Given the description of an element on the screen output the (x, y) to click on. 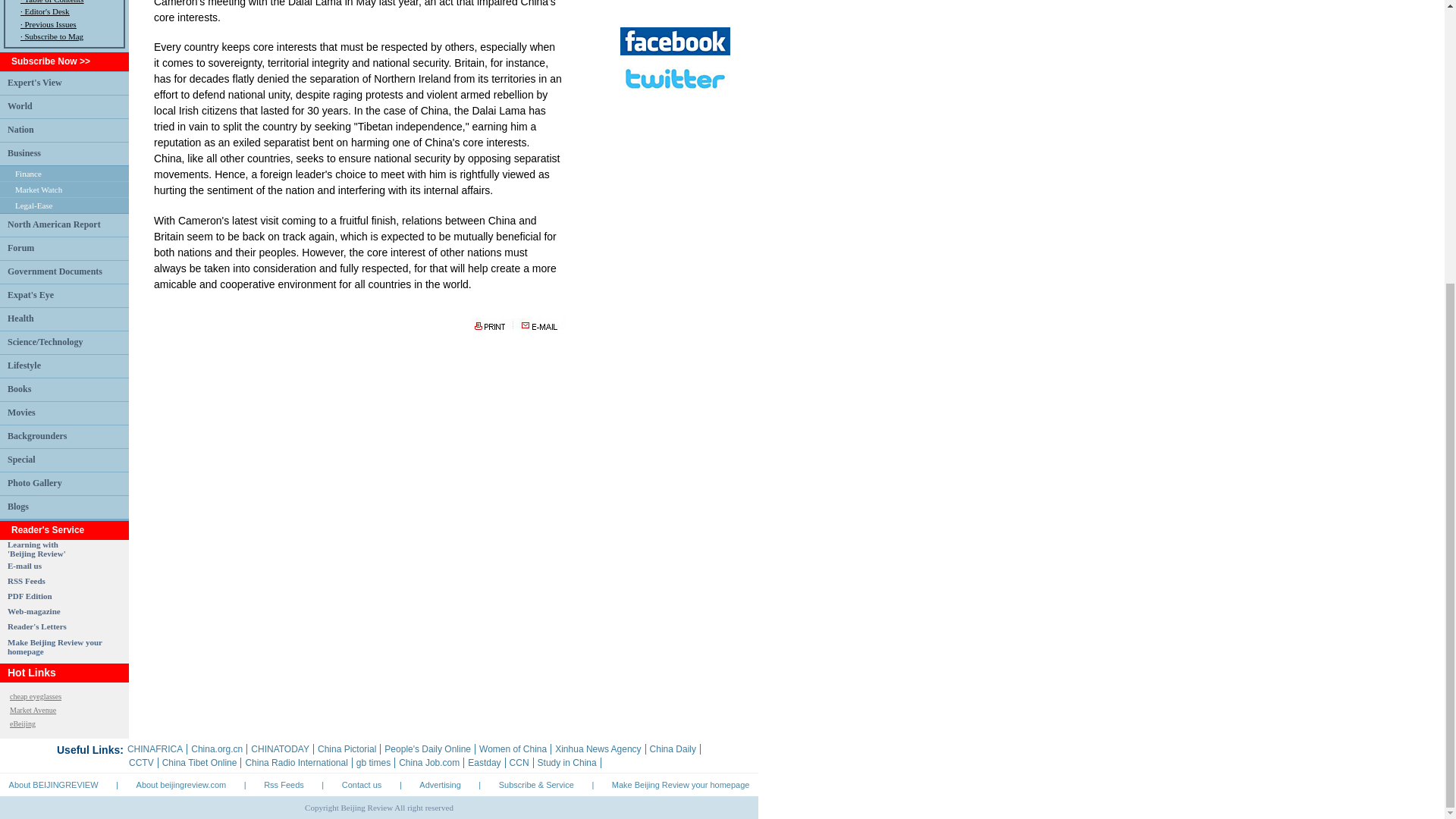
Editor's Desk (46, 10)
Forum (20, 247)
Legal-Ease (33, 204)
Special (20, 459)
Lifestyle (23, 365)
Movies (20, 412)
North American Report (53, 224)
E-mail us (24, 565)
Government Documents (54, 271)
Photo Gallery (34, 482)
